Given the description of an element on the screen output the (x, y) to click on. 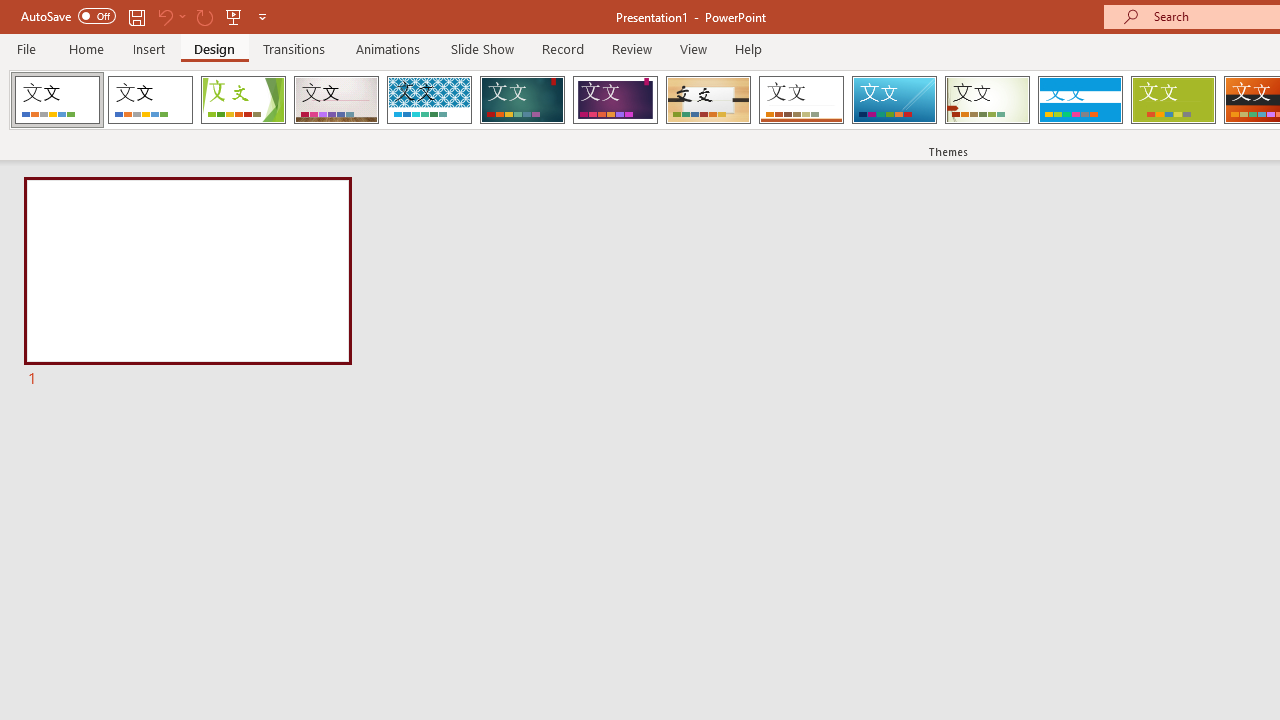
Retrospect Loading Preview... (801, 100)
Gallery (336, 100)
Facet (243, 100)
